Given the description of an element on the screen output the (x, y) to click on. 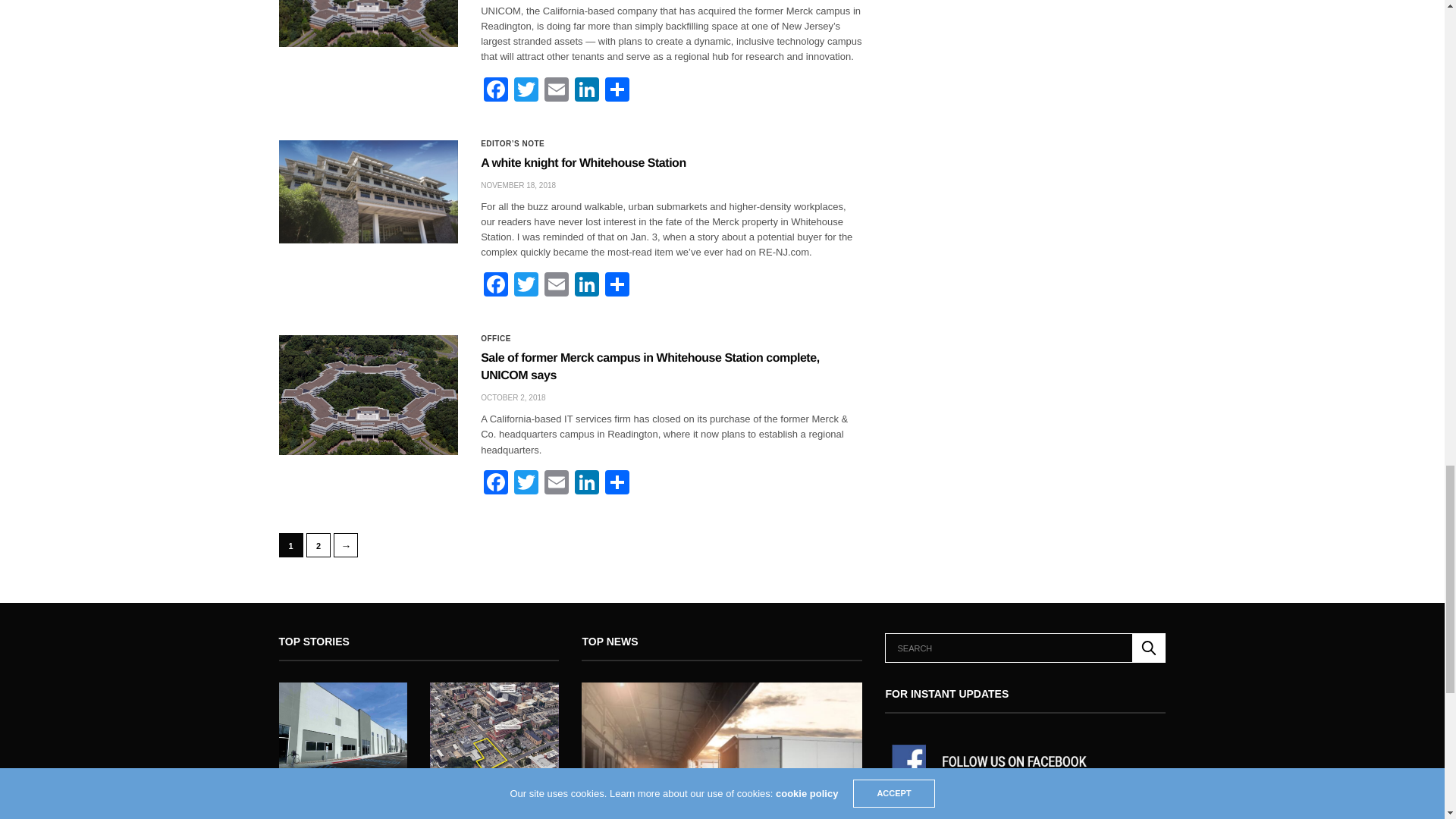
Search (1149, 647)
